Given the description of an element on the screen output the (x, y) to click on. 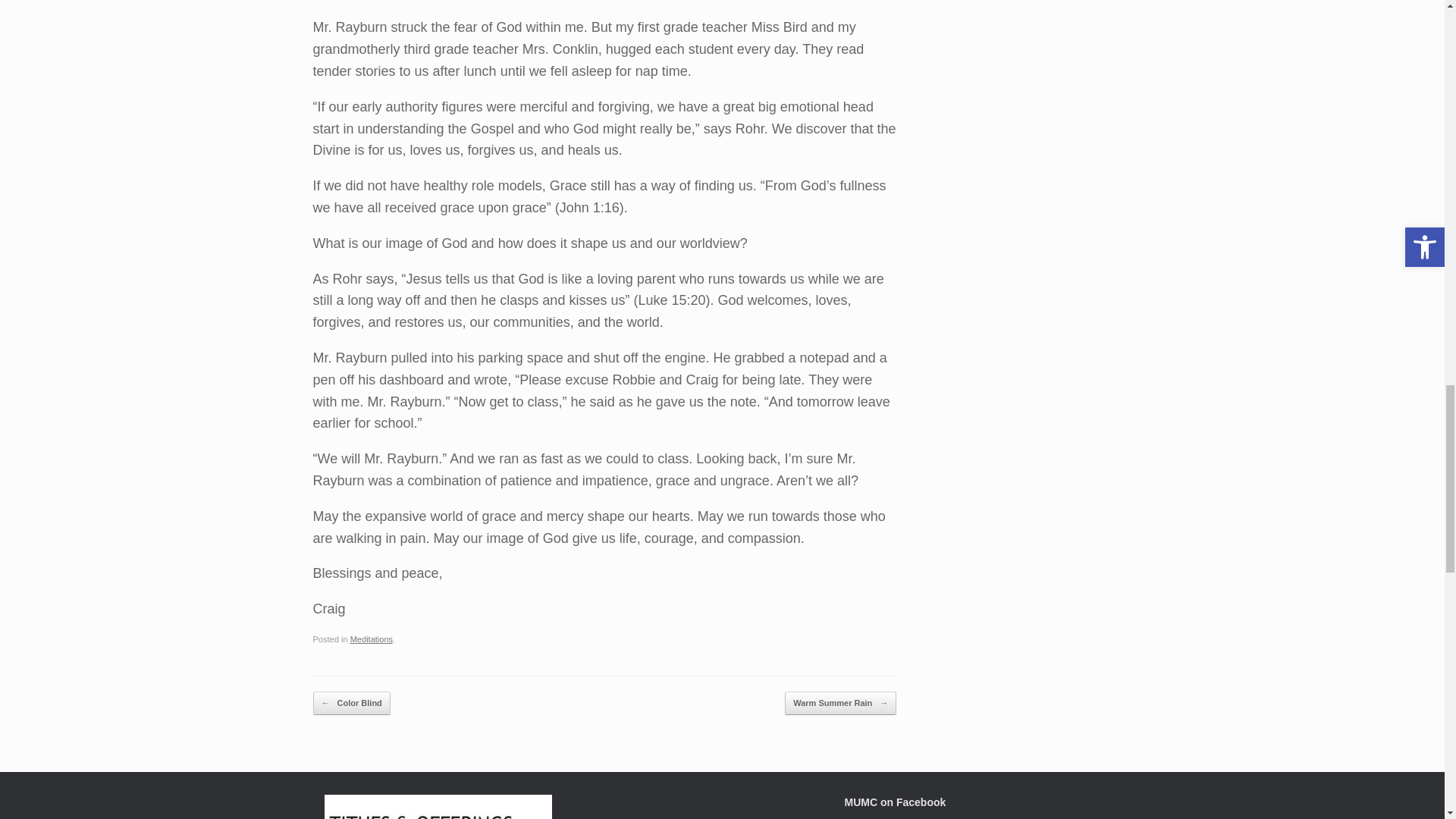
Meditations (371, 638)
